Given the description of an element on the screen output the (x, y) to click on. 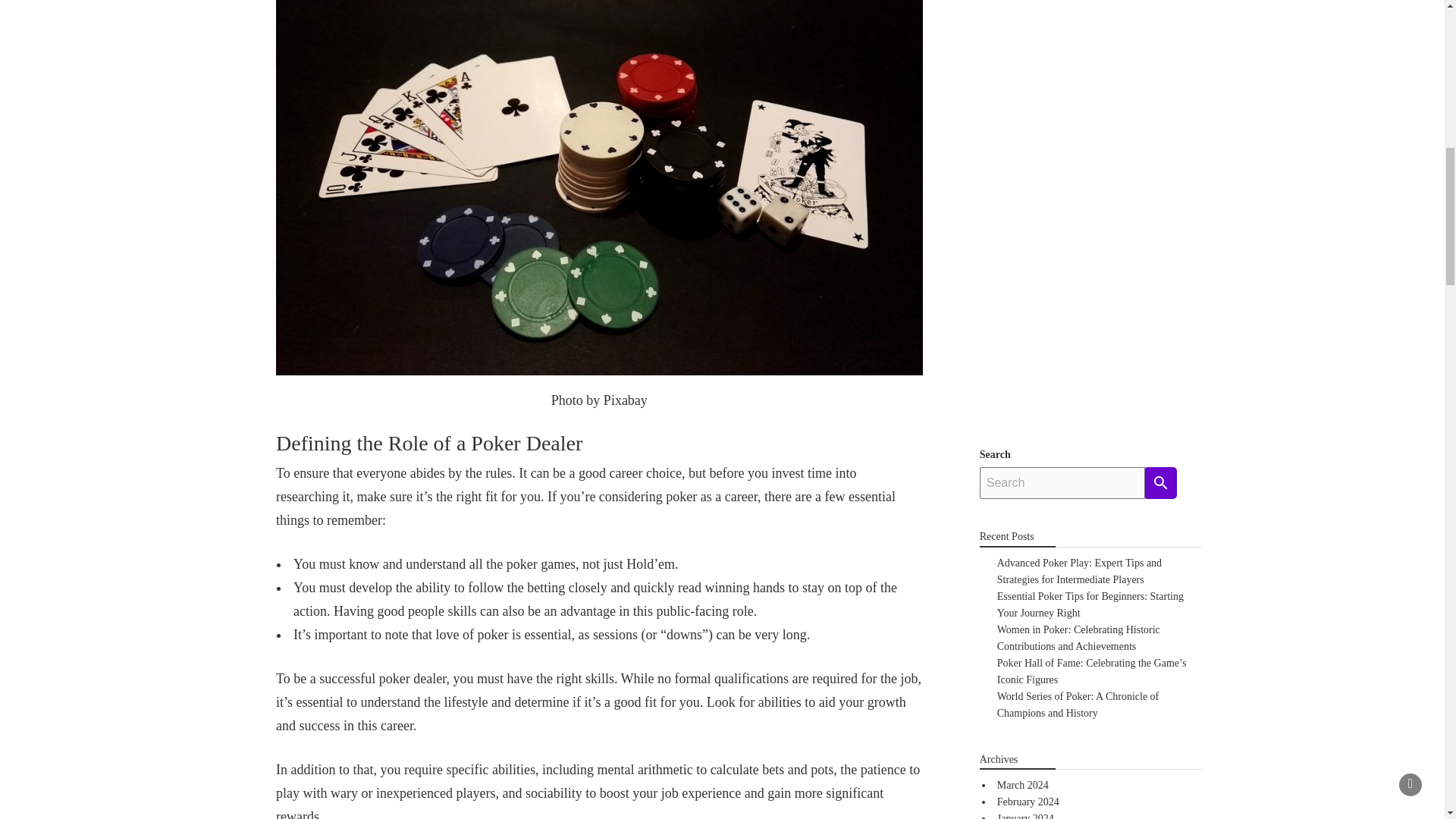
World Series of Poker: A Chronicle of Champions and History (1077, 705)
March 2024 (1022, 785)
January 2024 (1025, 816)
February 2024 (1028, 801)
